Given the description of an element on the screen output the (x, y) to click on. 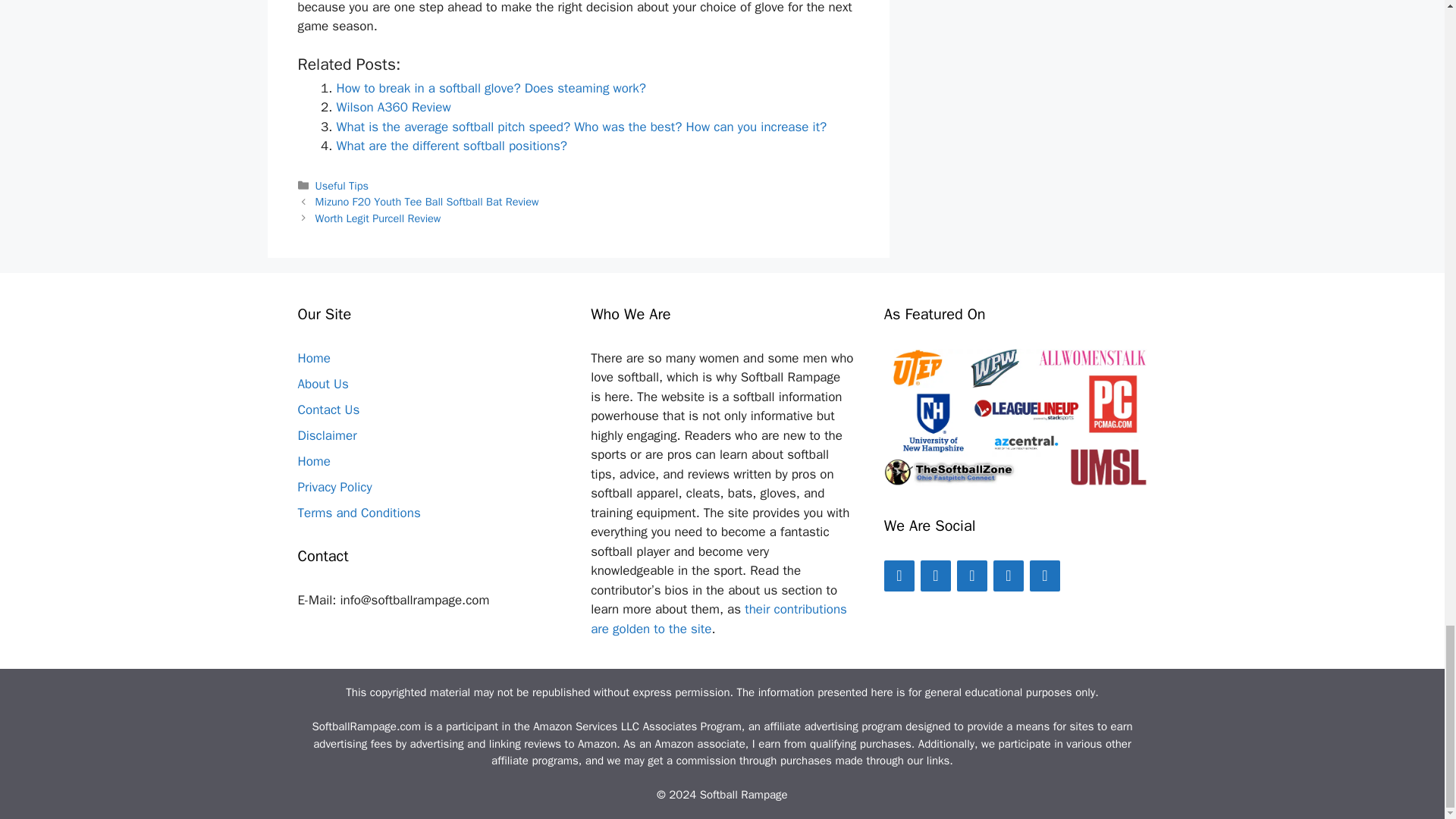
Worth Legit Purcell Review (378, 218)
Mizuno F20 Youth Tee Ball Softball Bat Review (426, 201)
What are the different softball positions? (451, 145)
Useful Tips (341, 185)
How to break in a softball glove? Does steaming work? (491, 88)
How to break in a softball glove? Does steaming work? (491, 88)
Wilson A360 Review (393, 107)
Wilson A360 Review (393, 107)
